Given the description of an element on the screen output the (x, y) to click on. 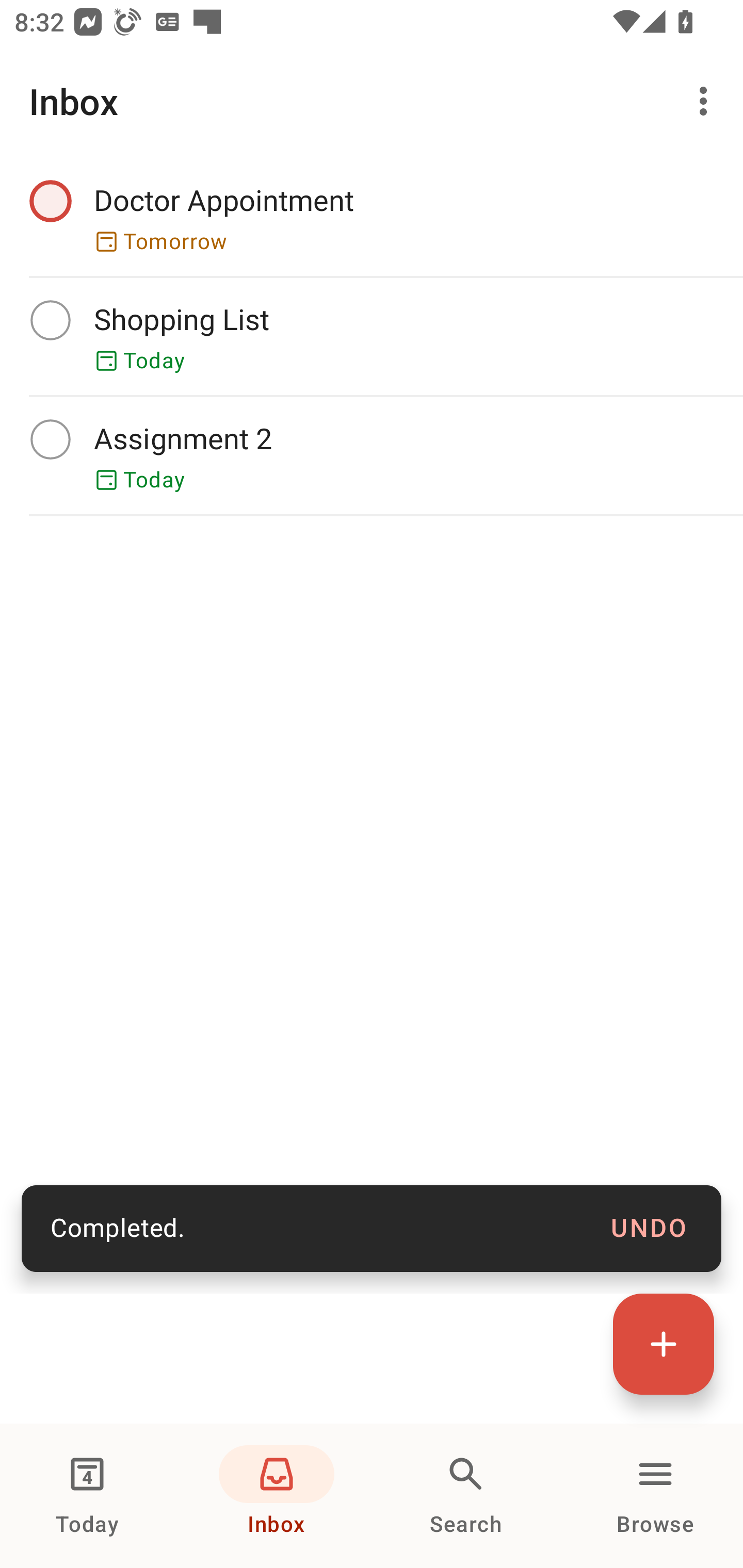
Inbox More options (371, 100)
More options (706, 101)
Complete Doctor Appointment Tomorrow (371, 216)
Complete (50, 200)
Complete Shopping List Today (371, 336)
Complete (50, 319)
Complete Assignment 2 Today (371, 455)
Complete (50, 438)
UNDO (648, 1228)
Quick add (663, 1343)
Today (87, 1495)
Search (465, 1495)
Browse (655, 1495)
